Given the description of an element on the screen output the (x, y) to click on. 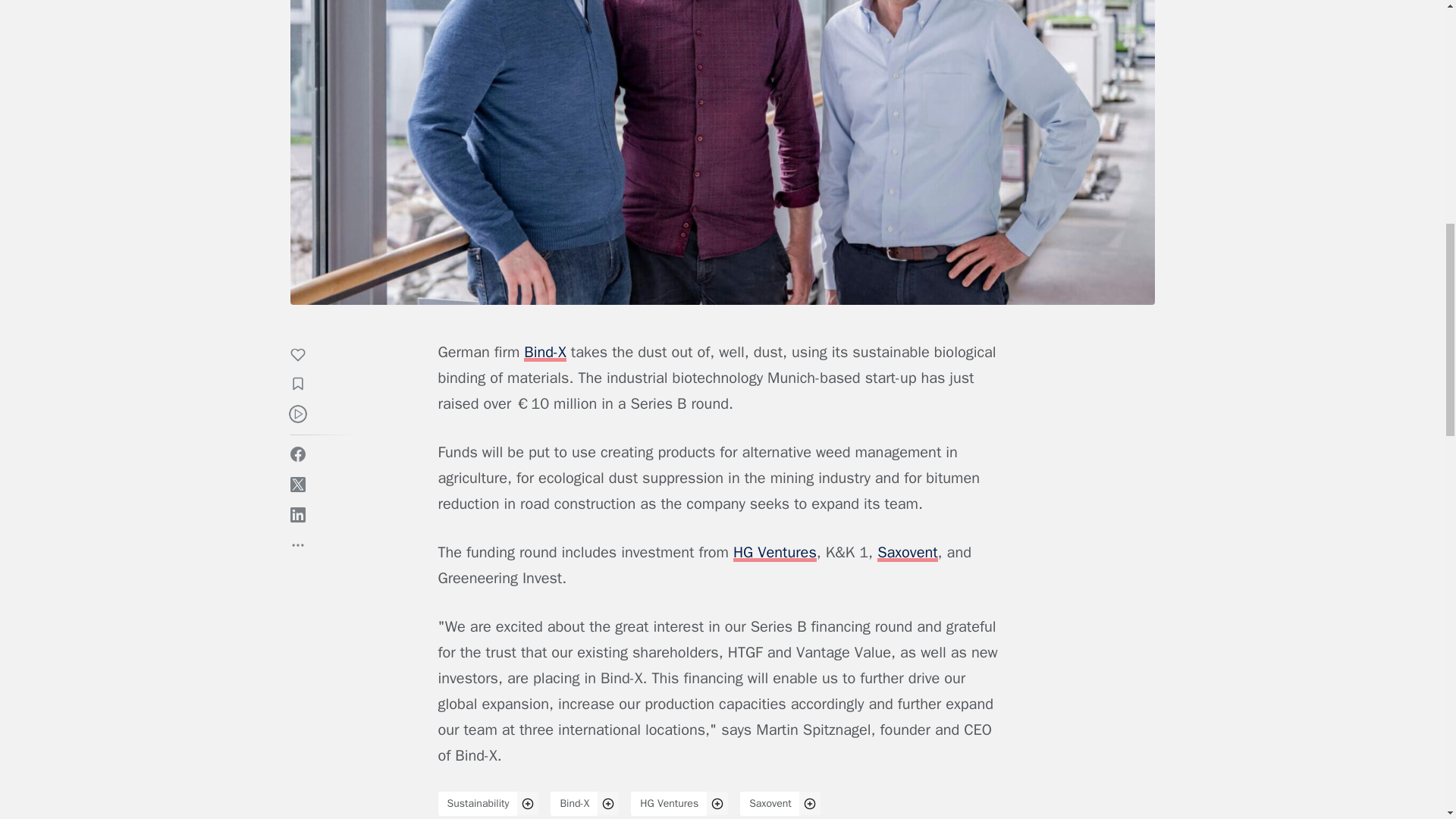
Share on Twitter (296, 484)
Listen this article (296, 413)
Like (304, 356)
Add to collection (304, 385)
Bind-X (574, 803)
Sustainability (478, 803)
HG Ventures (668, 803)
Share on Facebook (296, 453)
Share on Linkedin (296, 514)
Saxovent (769, 803)
